Given the description of an element on the screen output the (x, y) to click on. 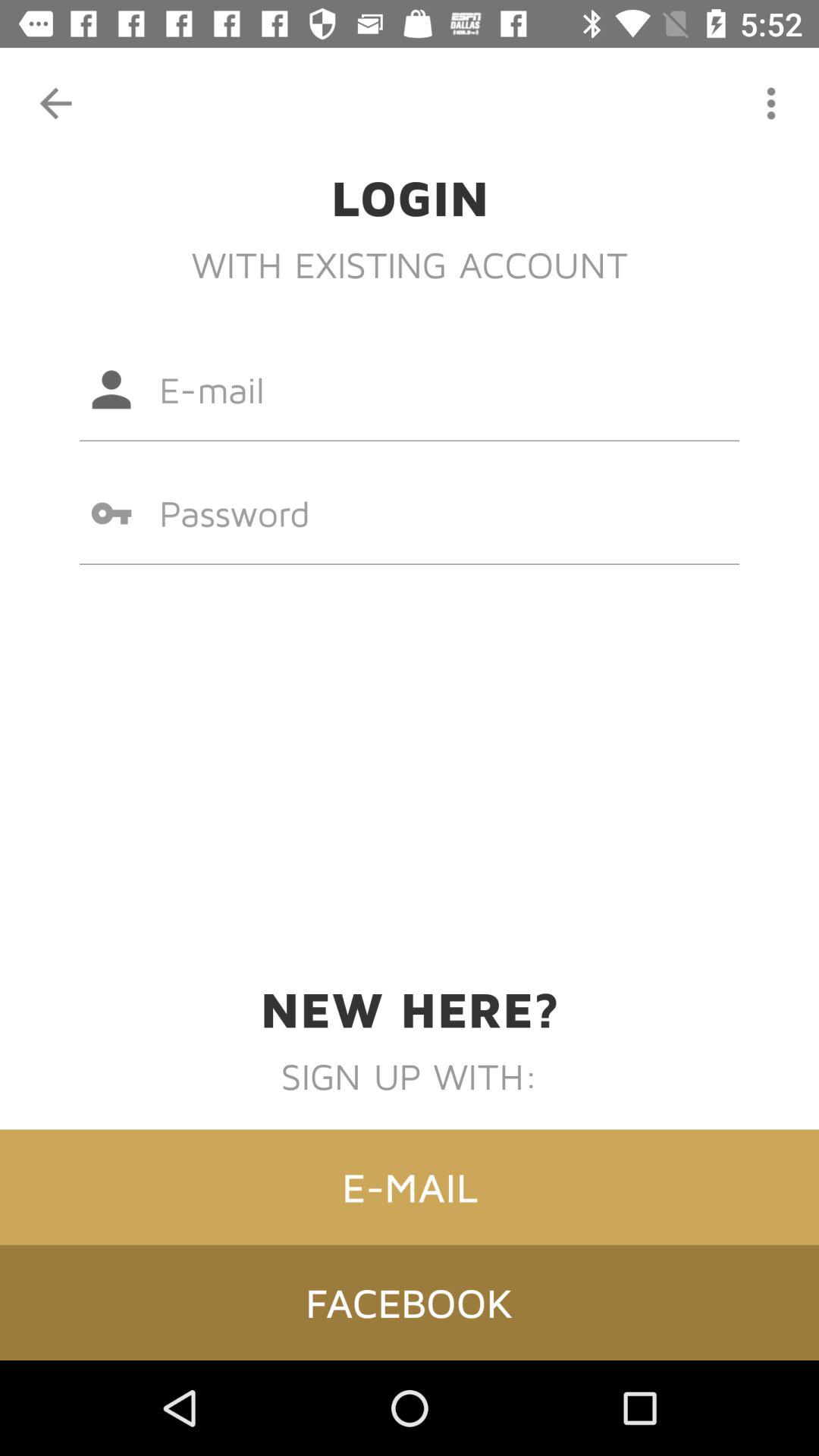
select the item above the login icon (55, 103)
